Given the description of an element on the screen output the (x, y) to click on. 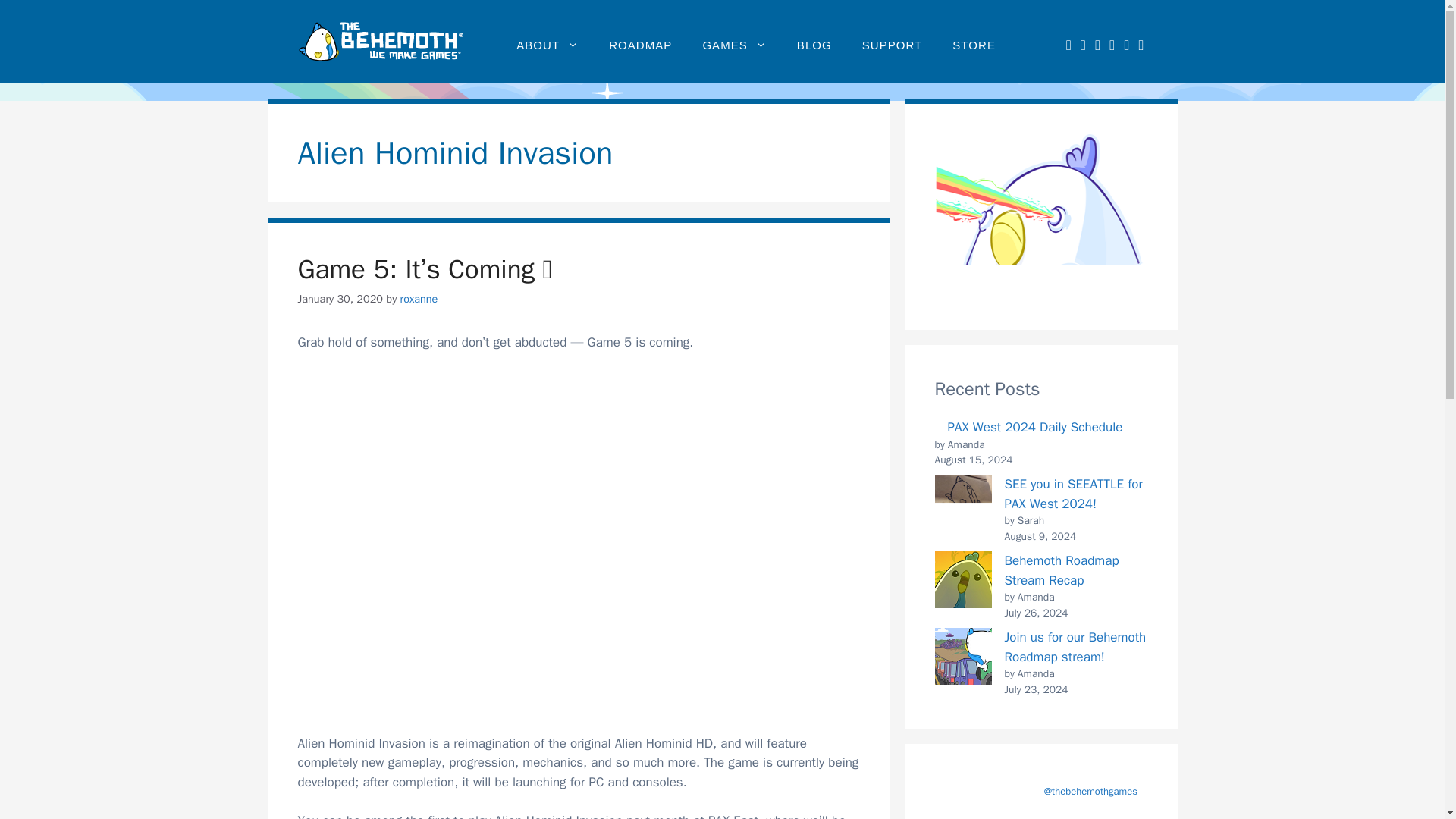
View all posts by roxanne (419, 298)
STORE (973, 44)
ABOUT (547, 44)
GAMES (733, 44)
SUPPORT (892, 44)
BLOG (814, 44)
ROADMAP (640, 44)
